Given the description of an element on the screen output the (x, y) to click on. 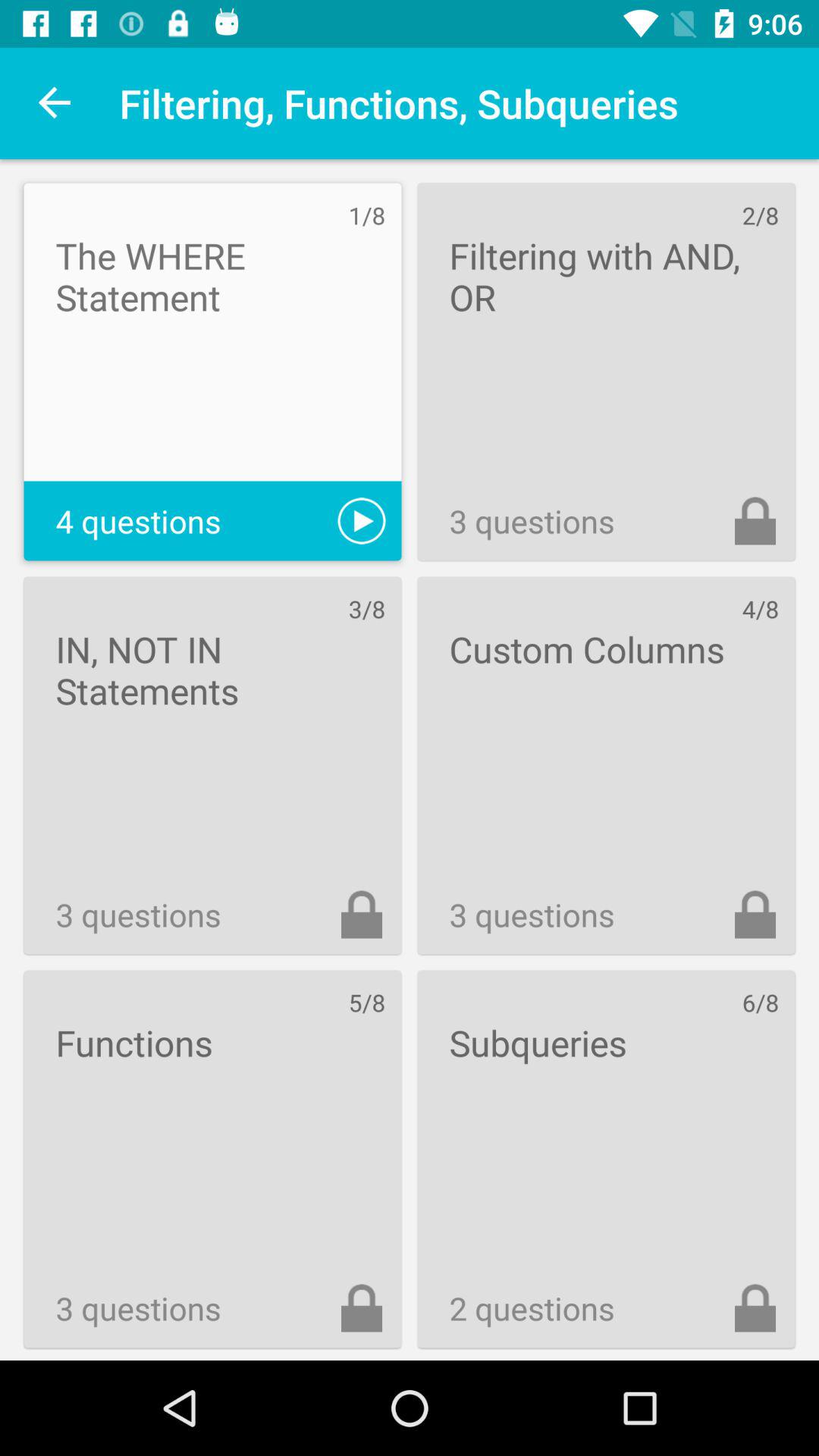
choose the icon above the where statement (55, 103)
